Given the description of an element on the screen output the (x, y) to click on. 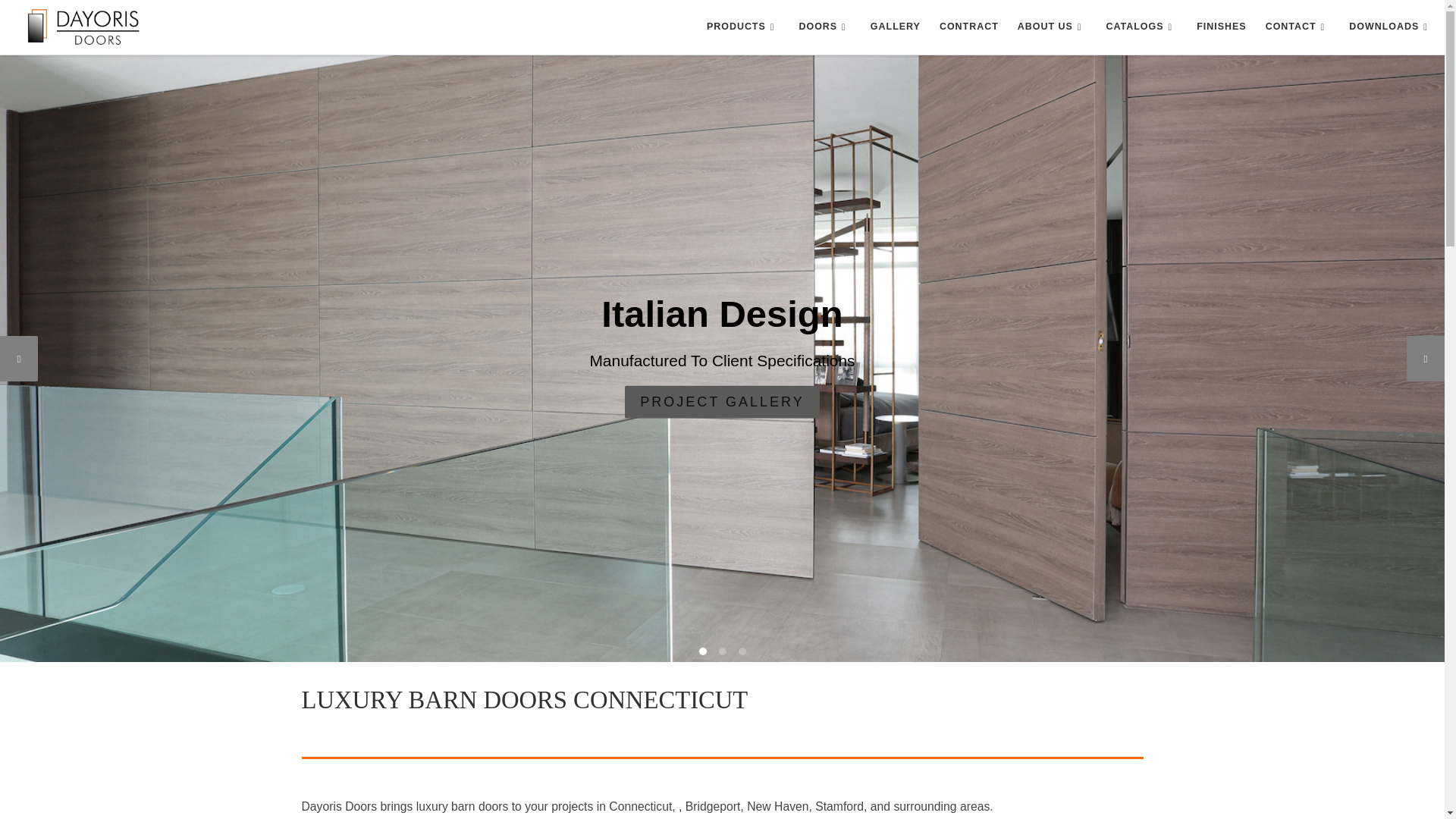
CONTRACT (968, 26)
CATALOGS (1141, 26)
PRODUCTS (742, 26)
ABOUT US (1052, 26)
GALLERY (896, 26)
CONTACT (1297, 26)
FINISHES (1221, 26)
DOORS (824, 26)
Skip to content (56, 19)
